Given the description of an element on the screen output the (x, y) to click on. 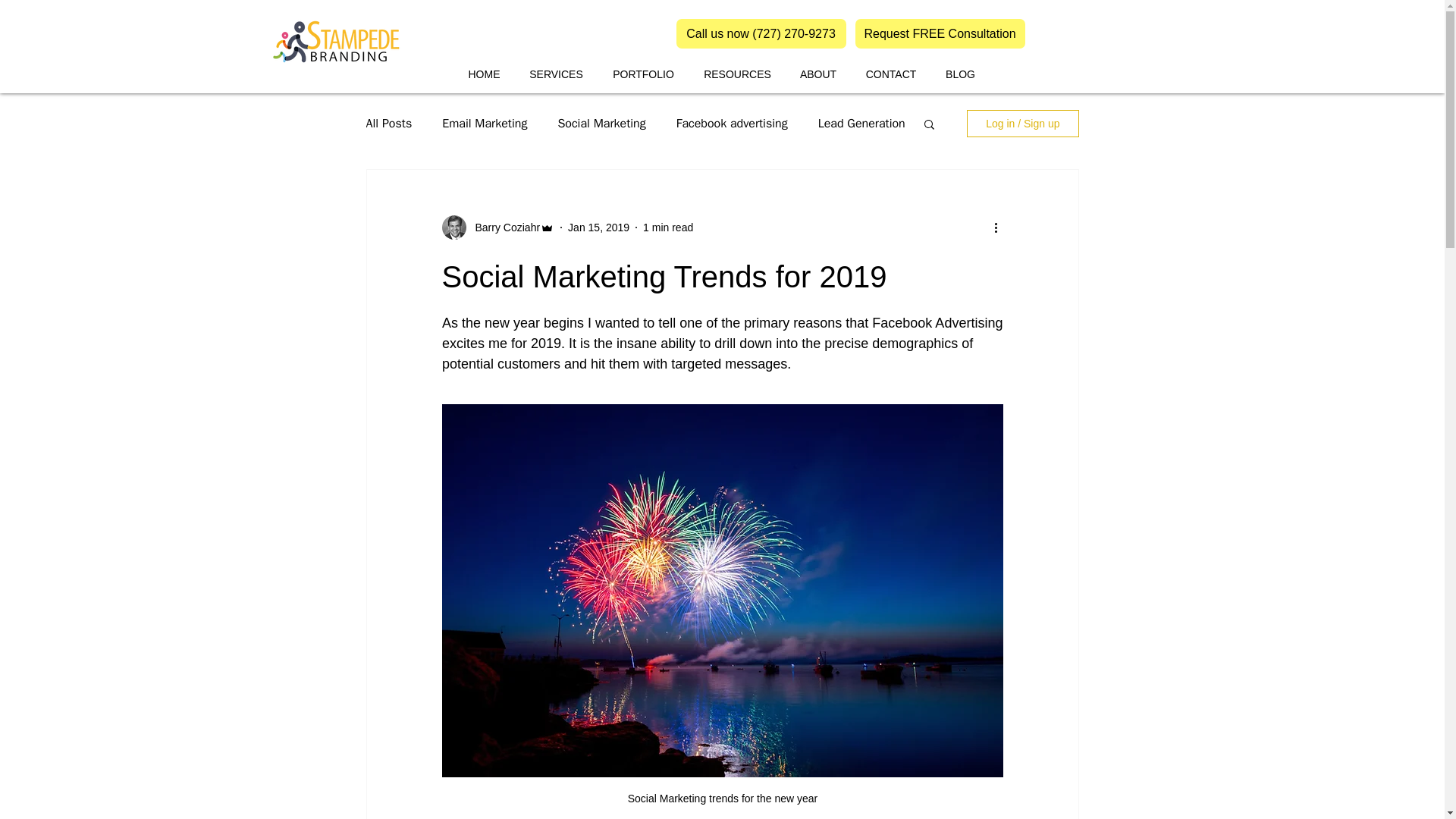
PORTFOLIO (643, 74)
All Posts (388, 123)
BLOG (960, 74)
1 min read (668, 227)
Barry Coziahr (502, 227)
Lead Generation (861, 123)
ABOUT (818, 74)
Facebook advertising (732, 123)
RESOURCES (738, 74)
Jan 15, 2019 (597, 227)
Social Marketing (601, 123)
Request FREE Consultation (940, 33)
SERVICES (555, 74)
HOME (483, 74)
CONTACT (890, 74)
